Given the description of an element on the screen output the (x, y) to click on. 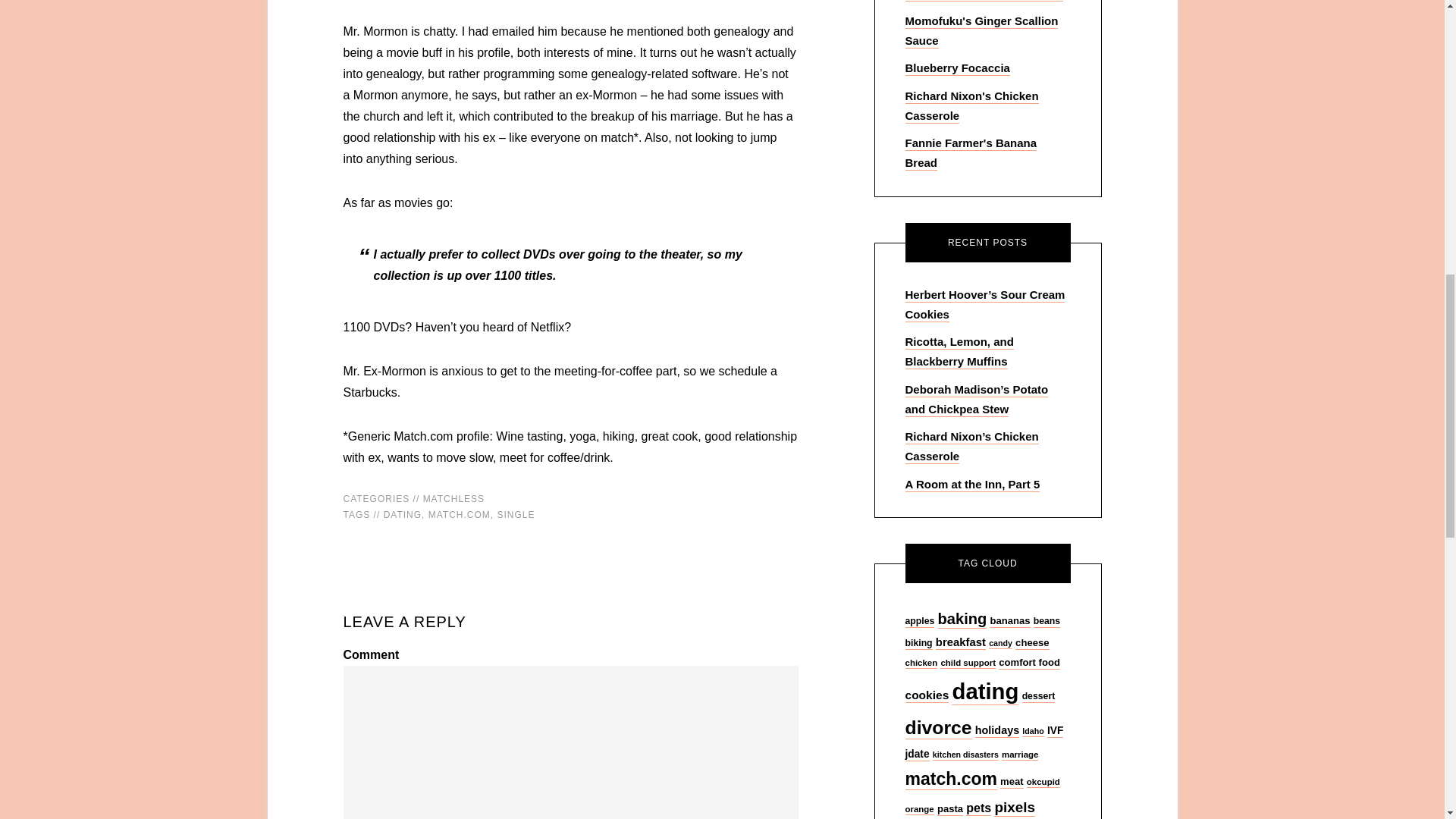
beans (1046, 621)
MATCHLESS (453, 498)
DATING (403, 514)
MATCH.COM (459, 514)
Fannie Farmer's Banana Bread (970, 153)
A Room at the Inn, Part 5 (973, 484)
SINGLE (516, 514)
Momofuku's Ginger Scallion Sauce (981, 31)
bananas (1009, 621)
Richard Nixon's Chicken Casserole (972, 106)
baking (962, 619)
Blueberry Focaccia (957, 68)
apples (919, 621)
Ricotta, Lemon, and Blackberry Muffins (959, 351)
